Given the description of an element on the screen output the (x, y) to click on. 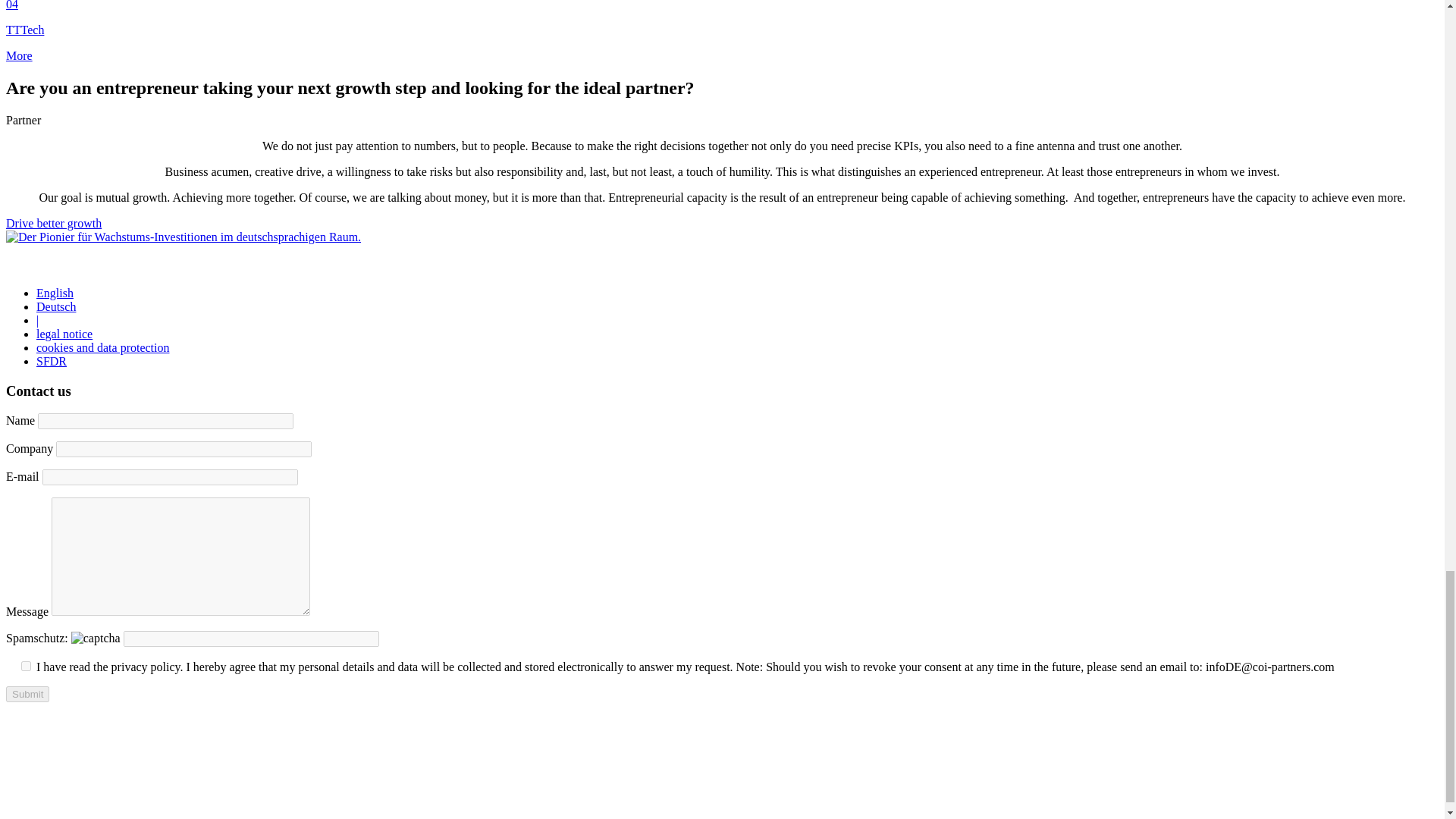
1 (25, 665)
English (55, 292)
Submit (27, 693)
Deutsch (55, 306)
